Given the description of an element on the screen output the (x, y) to click on. 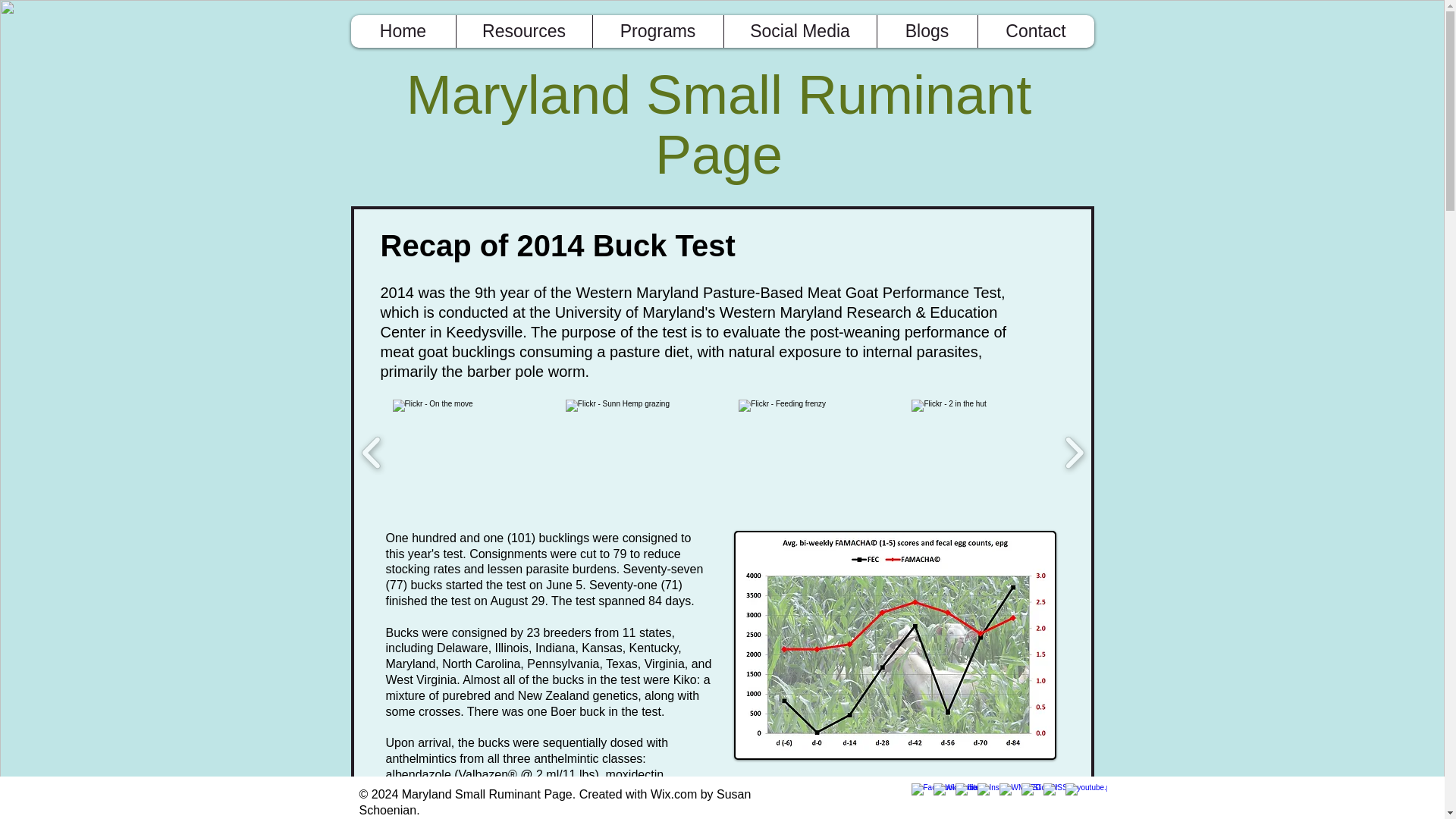
Home (402, 31)
Maryland Small Ruminant Page (718, 125)
Contact (1034, 31)
